Given the description of an element on the screen output the (x, y) to click on. 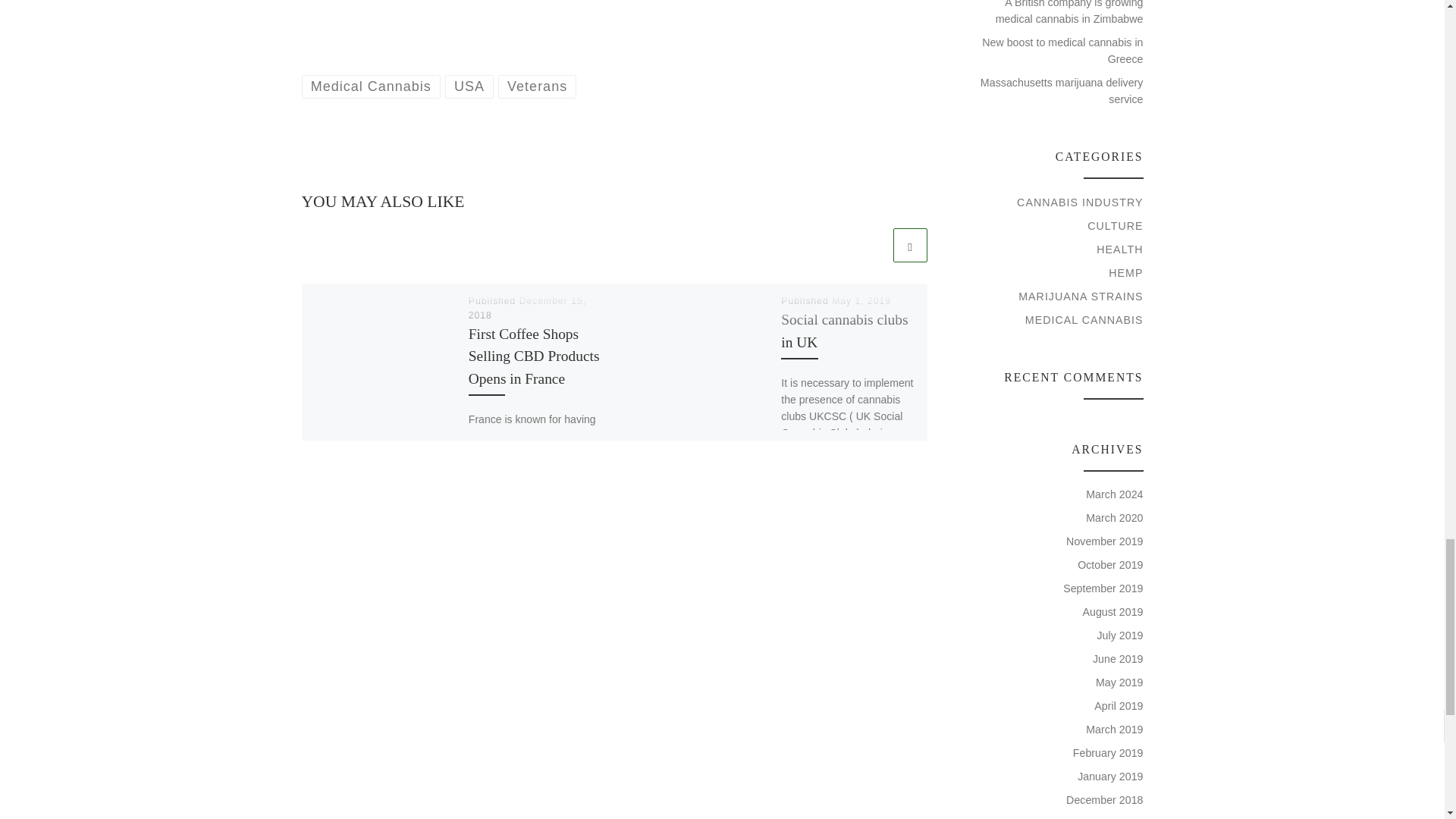
View all posts in Medical Cannabis (371, 86)
Previous related articles (872, 245)
View all posts in USA (470, 86)
Next related articles (910, 245)
View all posts in Veterans (536, 86)
